Given the description of an element on the screen output the (x, y) to click on. 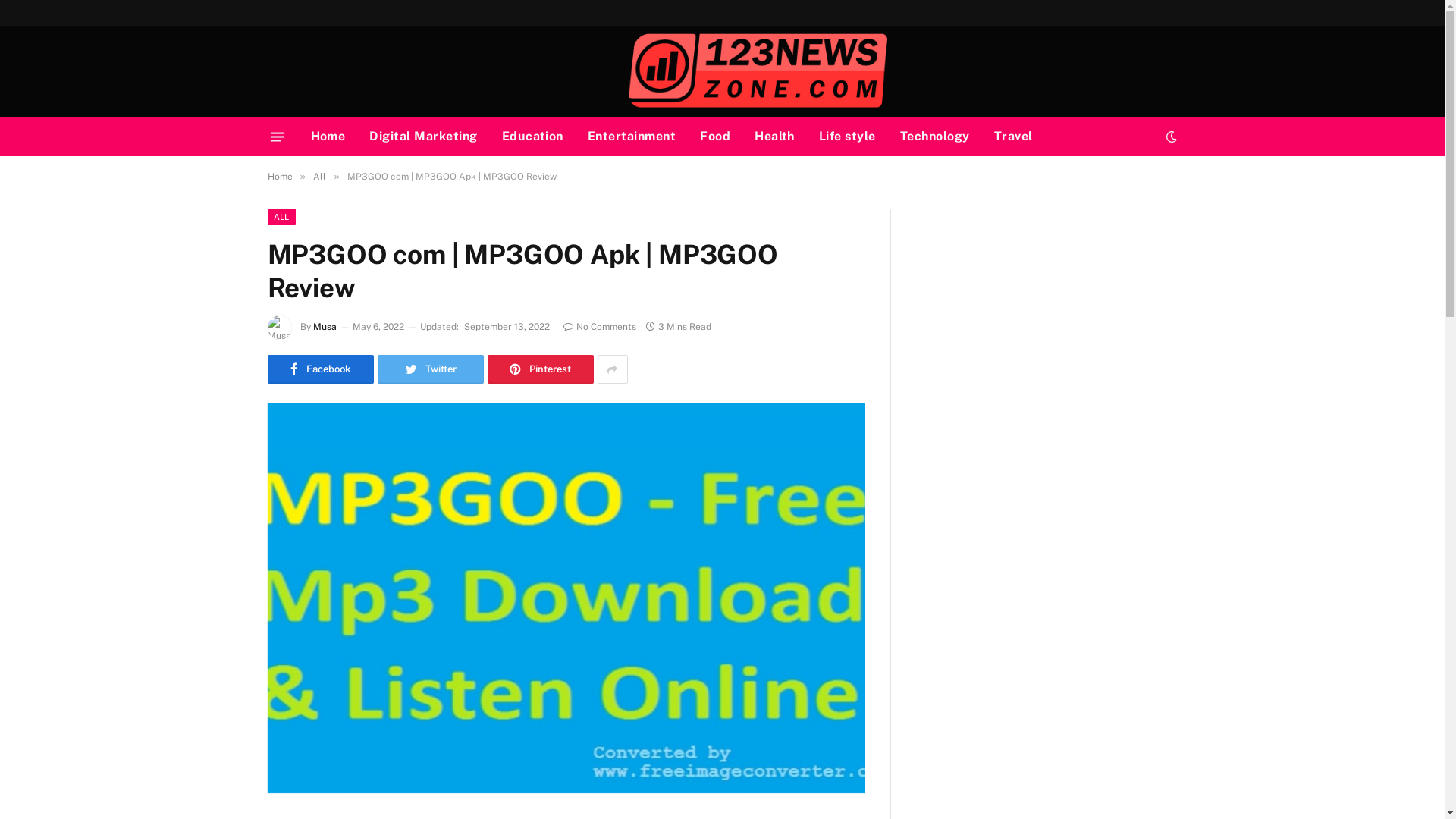
ALL Element type: text (280, 216)
Musa Element type: text (323, 326)
Entertainment Element type: text (631, 136)
Food Element type: text (714, 136)
Digital Marketing Element type: text (423, 136)
Travel Element type: text (1013, 136)
No Comments Element type: text (598, 326)
Show More Social Sharing Element type: hover (612, 368)
All Element type: text (319, 176)
Switch to Dark Design - easier on eyes. Element type: hover (1169, 136)
Home Element type: text (327, 136)
123newszone.com Element type: hover (586, 70)
Pinterest Element type: text (539, 368)
Twitter Element type: text (430, 368)
Life style Element type: text (847, 136)
Health Element type: text (774, 136)
Facebook Element type: text (319, 368)
MP3GOO com | MP3GOO Apk | MP3GOO Review Element type: hover (565, 597)
Home Element type: text (278, 176)
Education Element type: text (532, 136)
Technology Element type: text (935, 136)
